Given the description of an element on the screen output the (x, y) to click on. 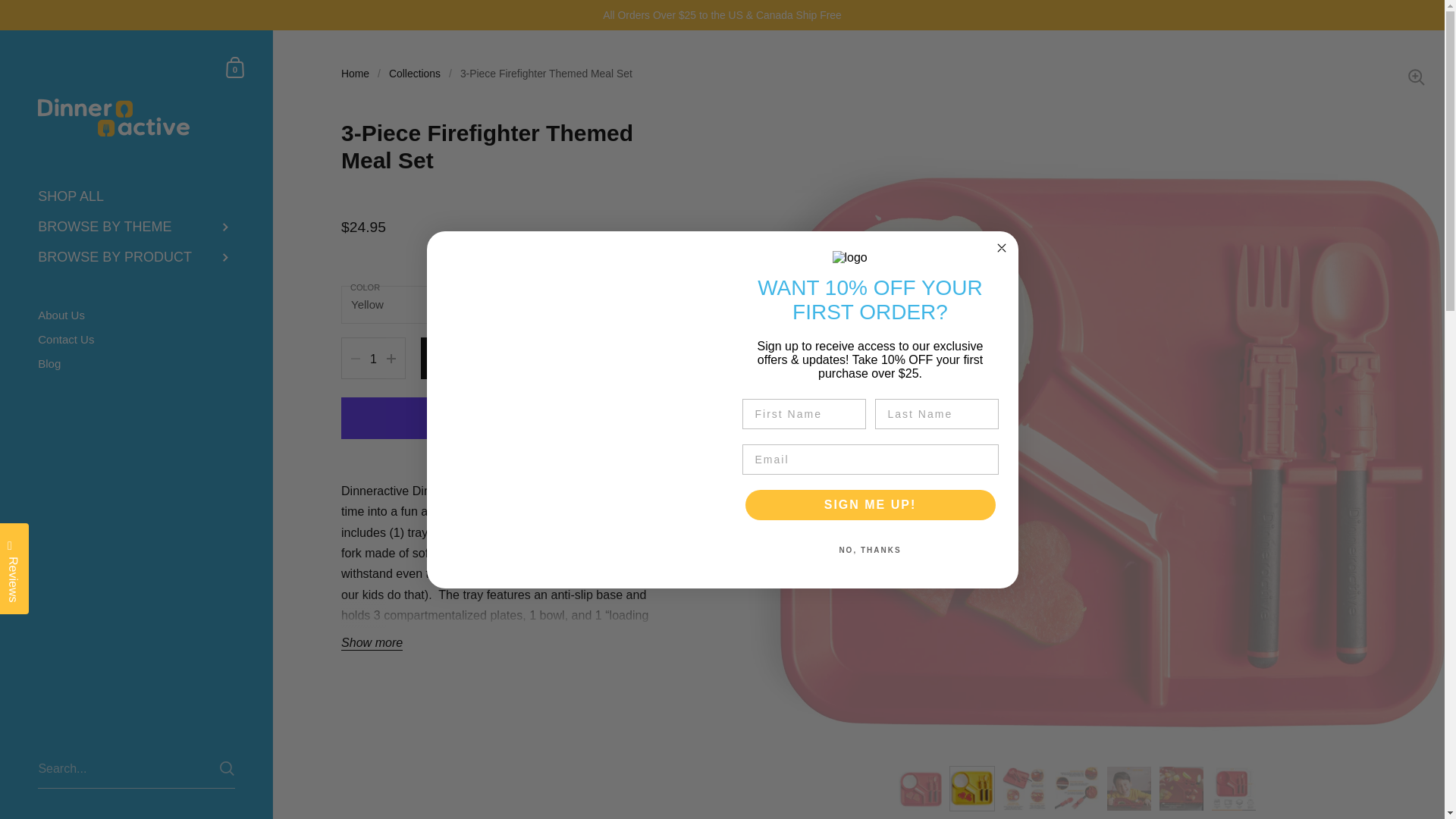
Blog (136, 363)
Show more (371, 643)
MORE PAYMENT OPTIONS (499, 451)
BROWSE BY THEME (136, 227)
BROWSE BY PRODUCT (136, 257)
Contact Us (136, 339)
Shopping Cart (235, 66)
SHOP ALL (235, 66)
Skip to content (136, 196)
Collections (354, 73)
Add to cart (414, 73)
1 (539, 358)
About Us (373, 359)
